Given the description of an element on the screen output the (x, y) to click on. 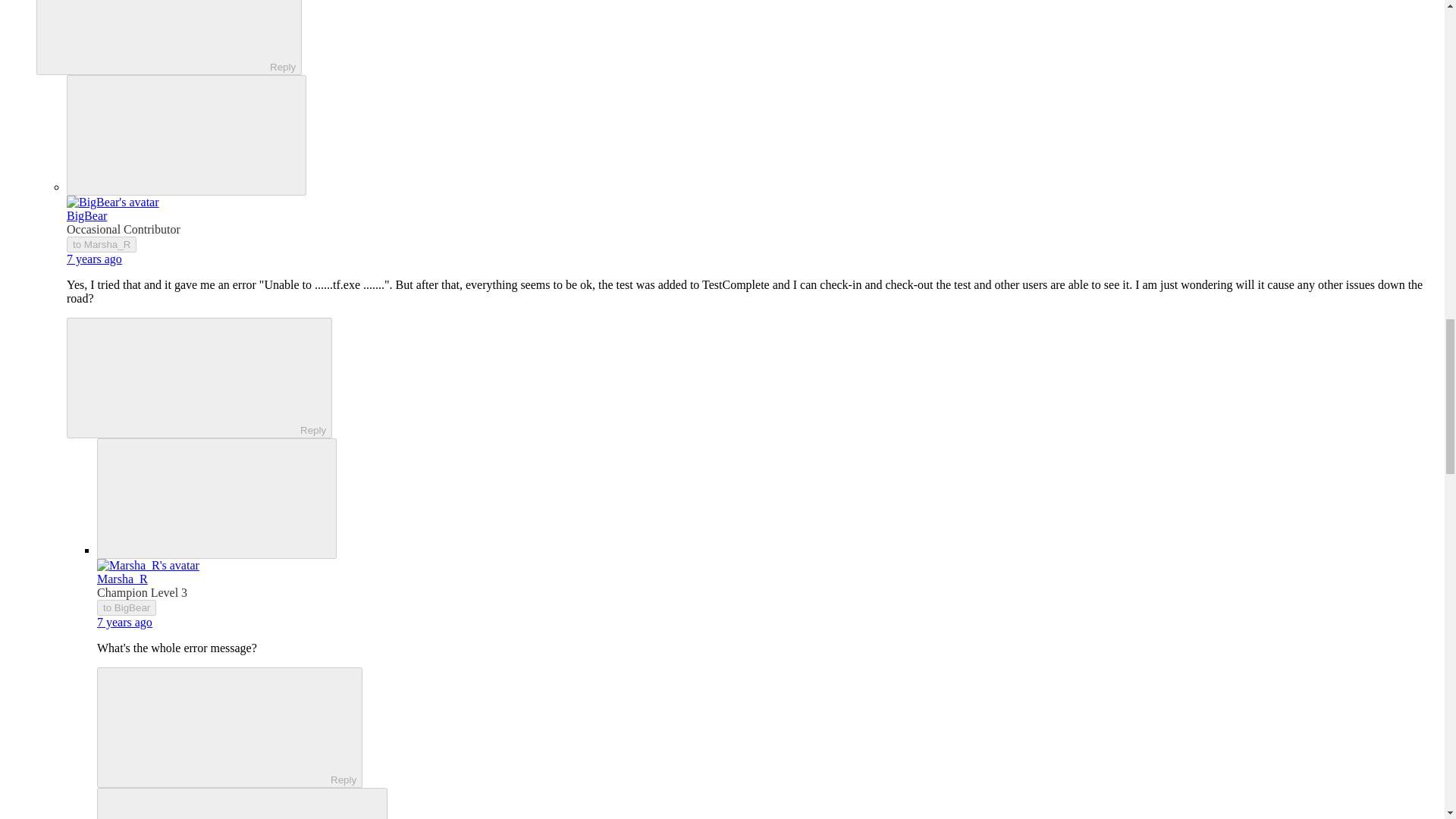
Reply (155, 35)
BigBear (86, 215)
ReplyReply (168, 37)
7 years ago (94, 258)
Reply (216, 725)
7 years ago (124, 621)
Show More (242, 803)
February 7, 2018 at 12:44 AM (94, 258)
ReplyReply (198, 377)
ReplyReply (229, 727)
Reply (185, 377)
to BigBear (126, 607)
February 7, 2018 at 12:48 AM (124, 621)
